Given the description of an element on the screen output the (x, y) to click on. 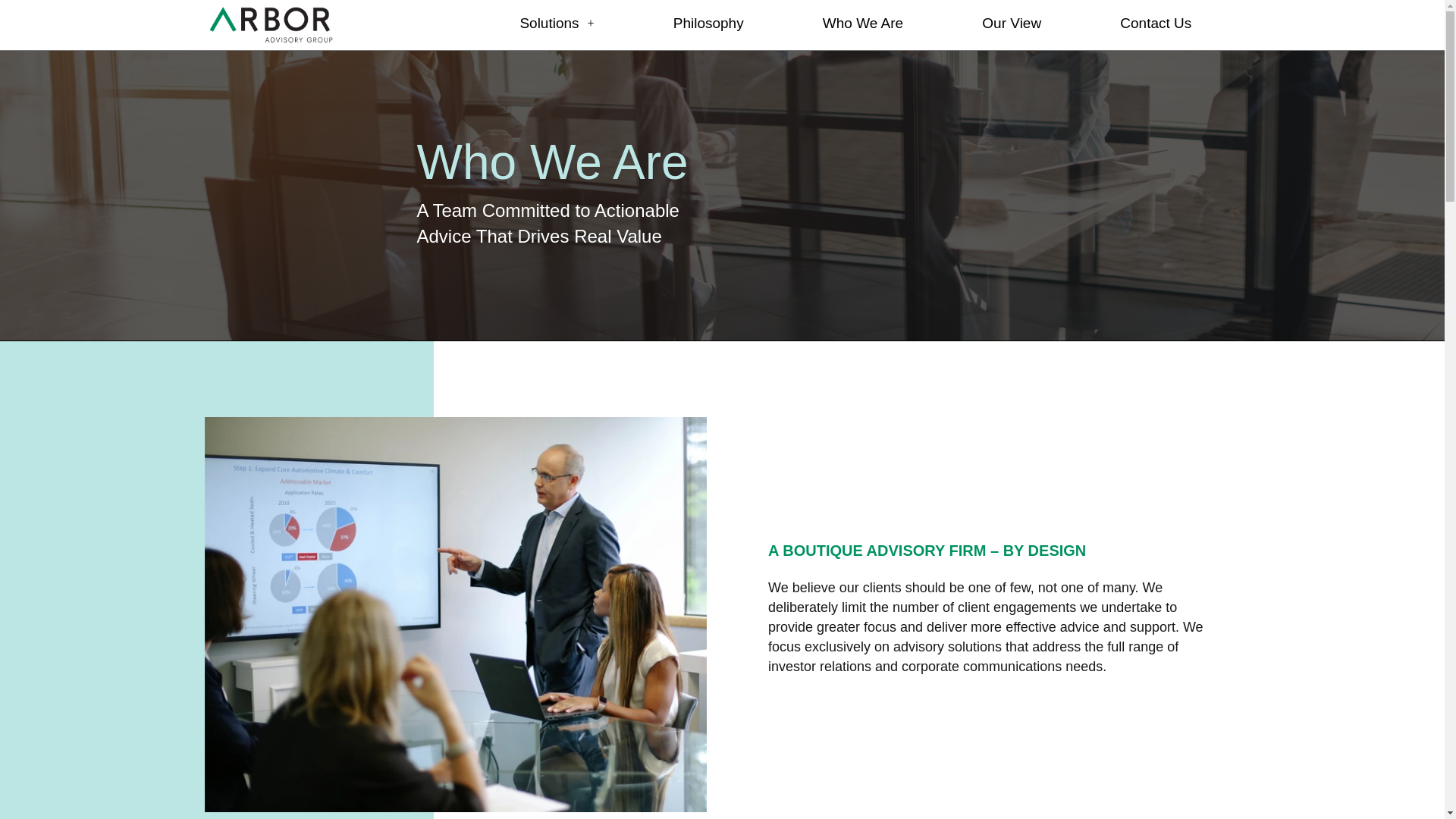
Solutions (556, 26)
Contact Us (1155, 26)
Philosophy (708, 26)
Our View (1011, 26)
Who We Are (862, 26)
